Given the description of an element on the screen output the (x, y) to click on. 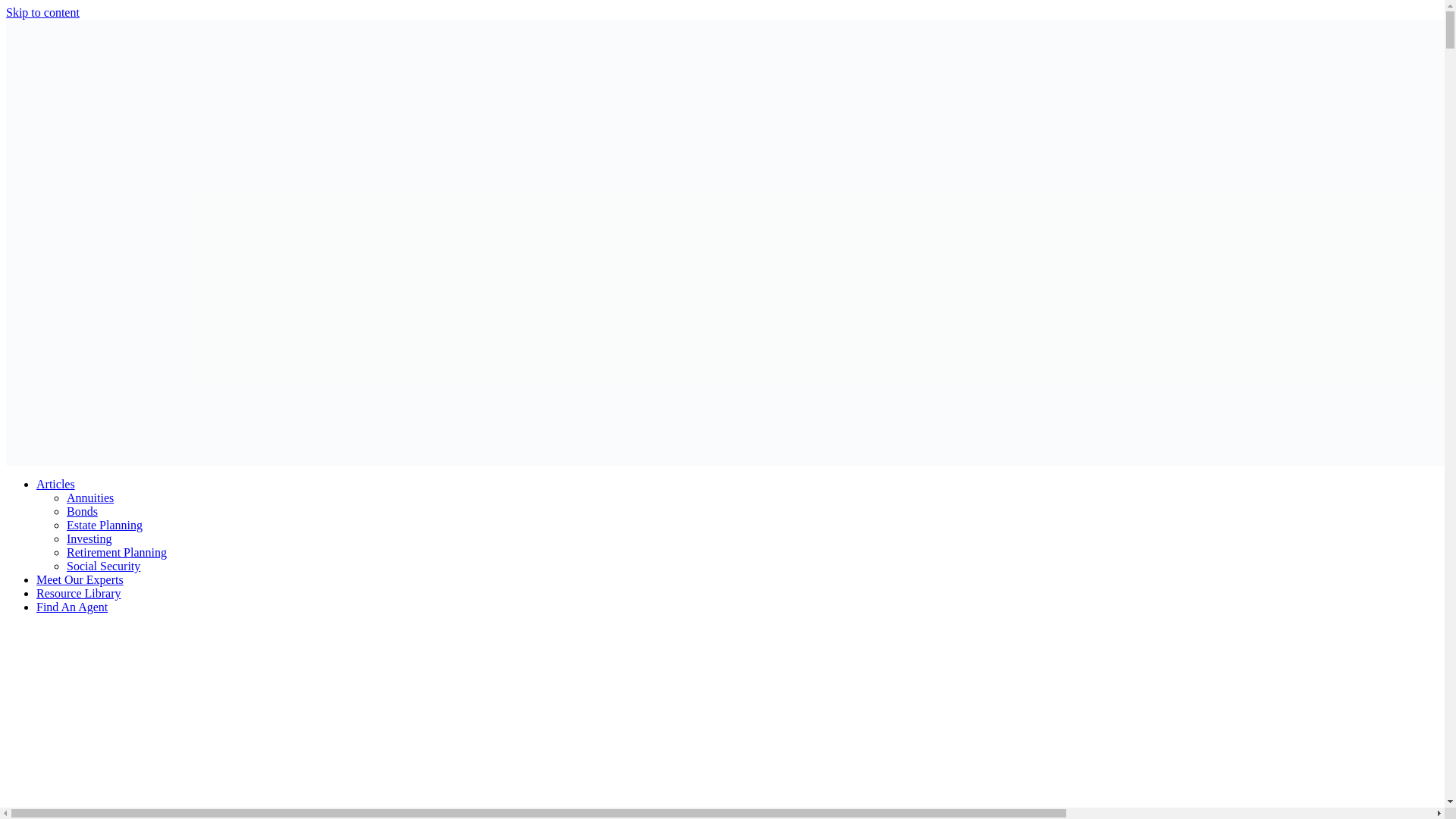
Retirement Planning (116, 552)
Investing (89, 538)
Skip to content (42, 11)
Resource Library (78, 593)
Annuities (89, 497)
Estate Planning (104, 524)
Meet Our Experts (79, 579)
Social Security (102, 565)
Bonds (81, 511)
Articles (55, 483)
